Given the description of an element on the screen output the (x, y) to click on. 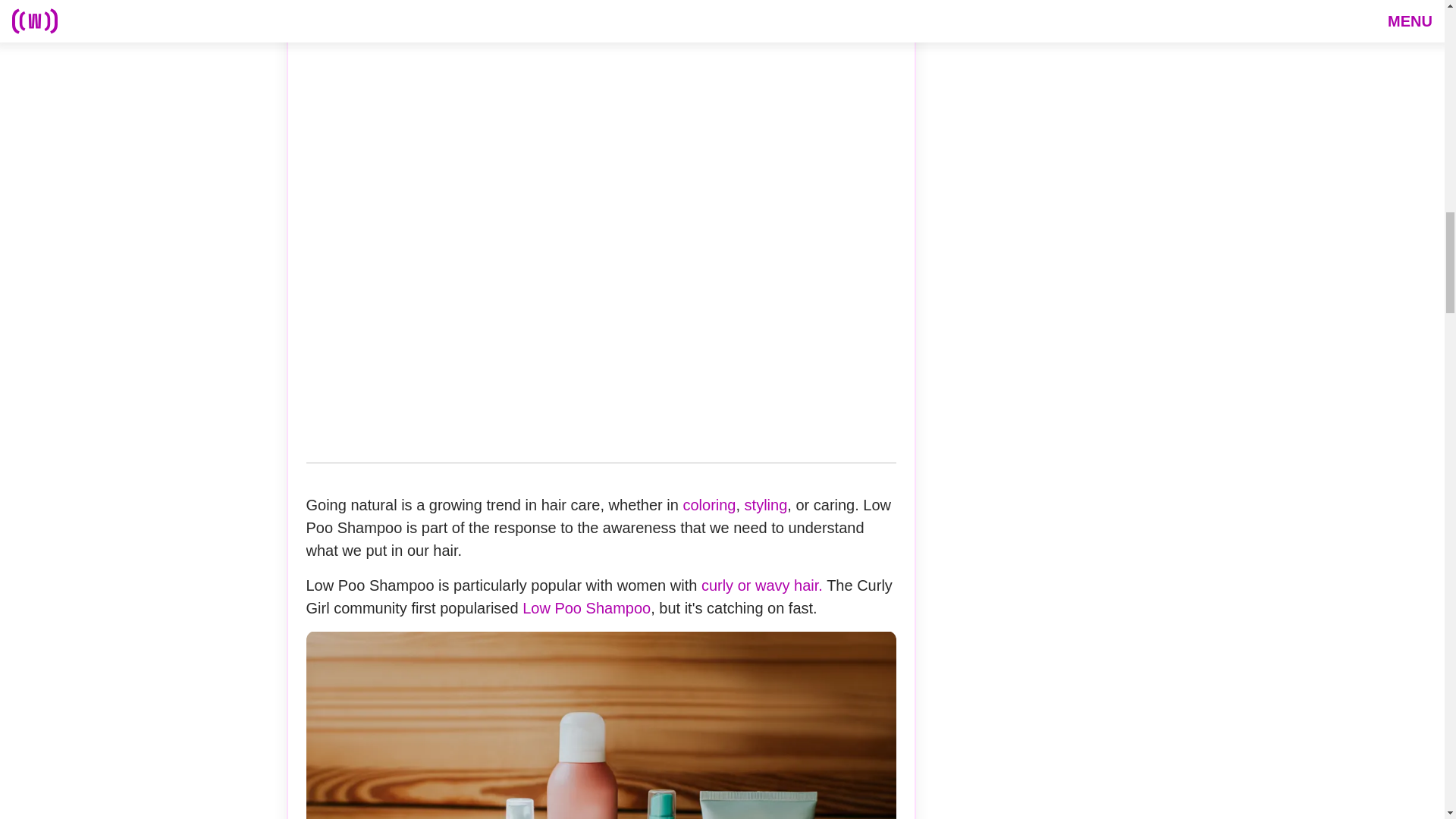
Low Poo Shampoo (586, 607)
styling (765, 504)
curly or wavy hair. (761, 585)
coloring (708, 504)
